Given the description of an element on the screen output the (x, y) to click on. 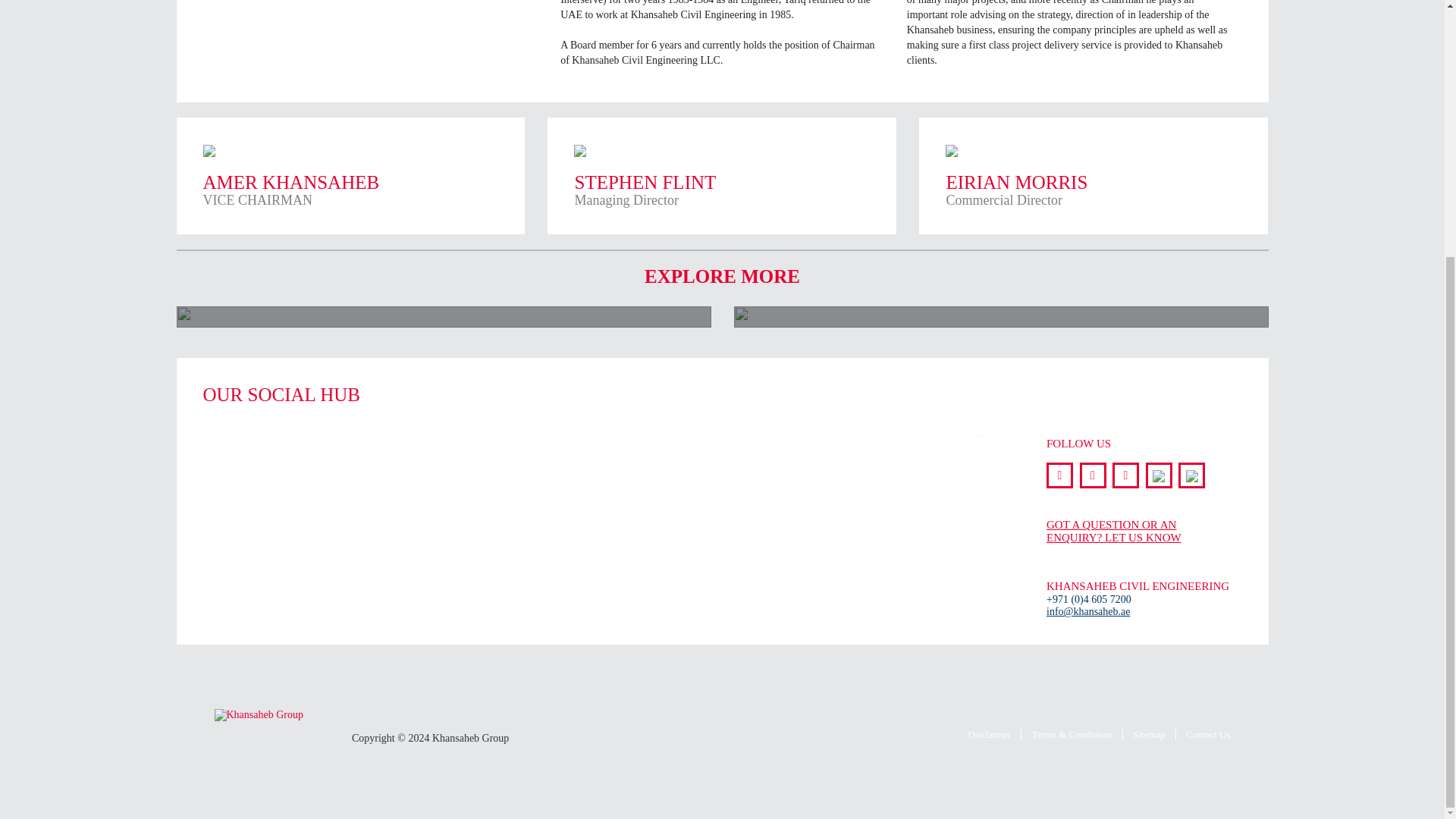
Disclaimer (721, 175)
GOT A QUESTION OR AN ENQUIRY? LET US KNOW (989, 734)
OUR PROJECTS (1138, 531)
OUR HISTORY TIMELINE (1000, 316)
